Given the description of an element on the screen output the (x, y) to click on. 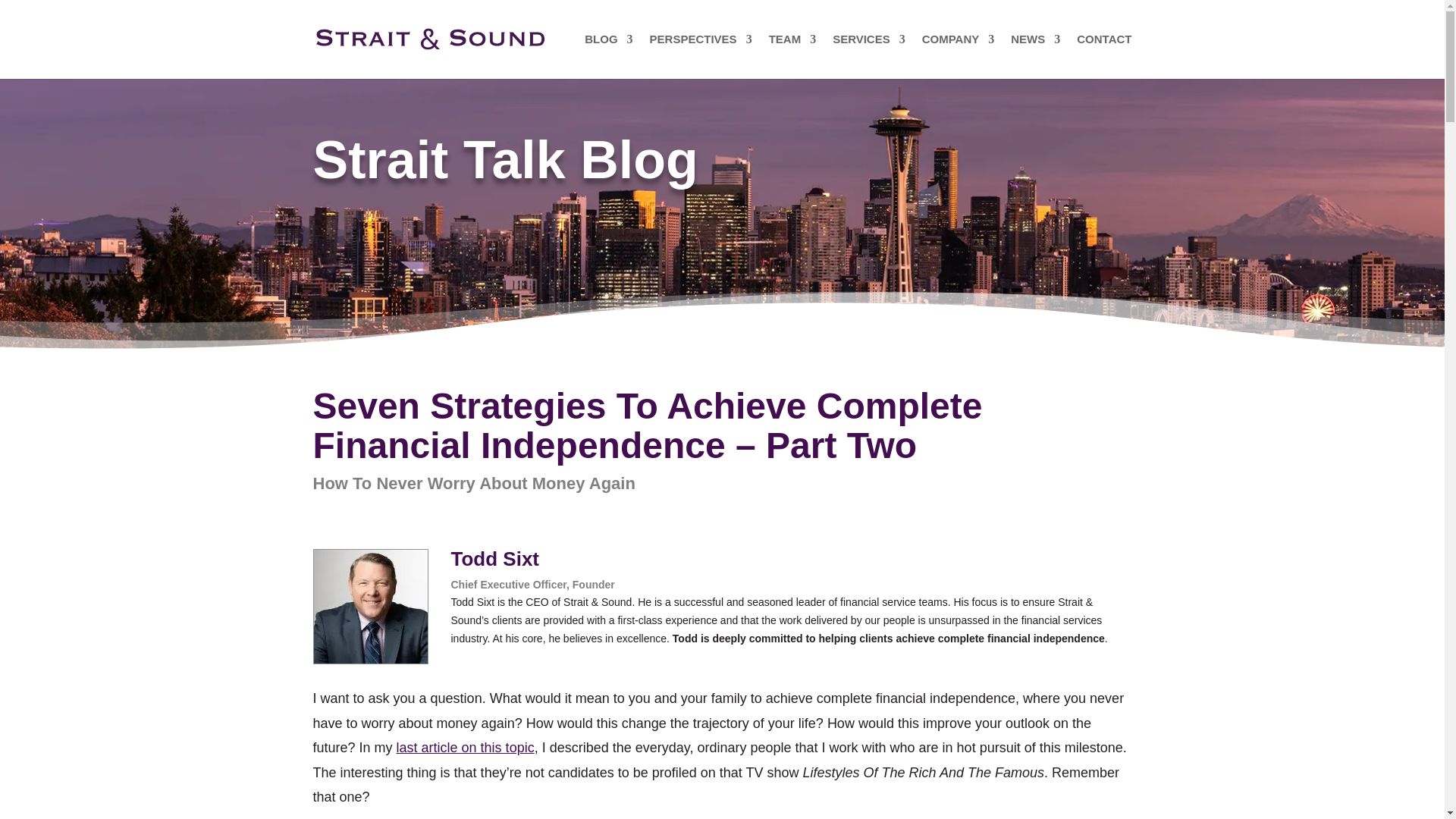
PERSPECTIVES (700, 56)
SERVICES (868, 56)
TEAM (792, 56)
BLOG (608, 56)
COMPANY (957, 56)
NEWS (1034, 56)
